Given the description of an element on the screen output the (x, y) to click on. 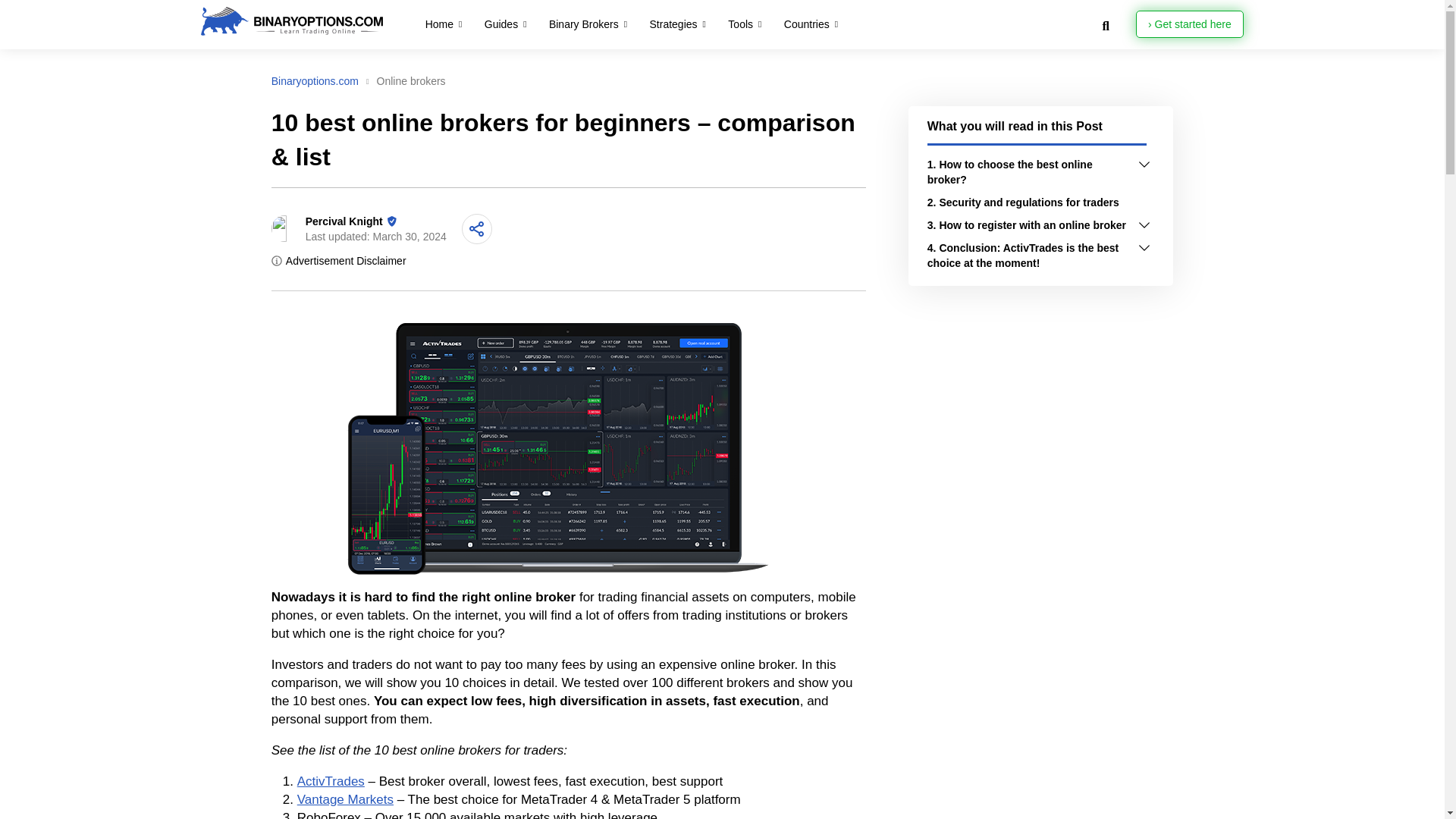
Home (438, 24)
Binary Brokers (584, 24)
Guides (500, 24)
Home (438, 24)
Guides (500, 24)
binaryoptions.com (304, 21)
